Given the description of an element on the screen output the (x, y) to click on. 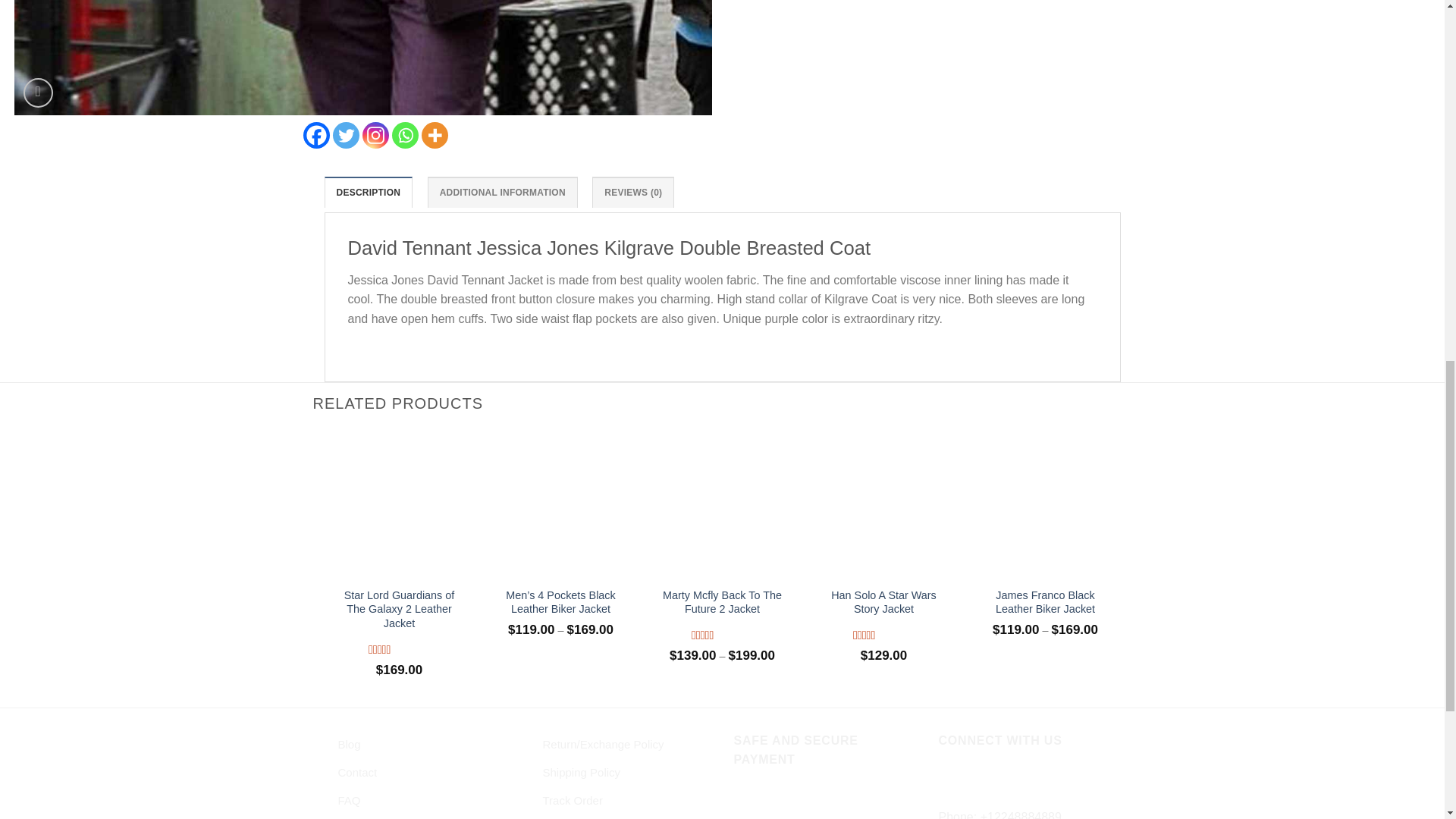
Twitter (344, 135)
jessica-jones-david-tennant-jacket (362, 57)
Zoom (37, 92)
Instagram (375, 135)
Facebook (316, 135)
